Given the description of an element on the screen output the (x, y) to click on. 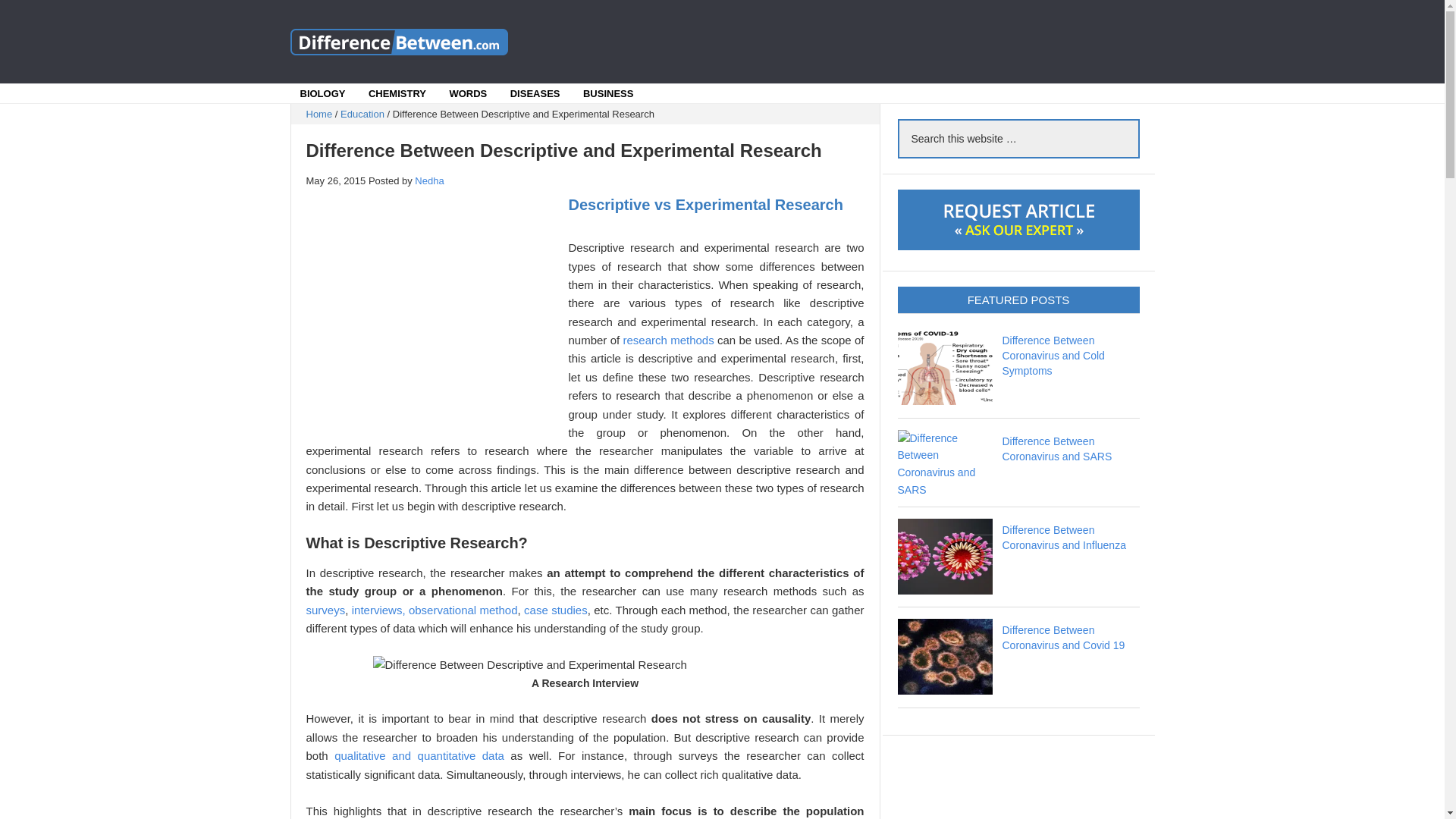
CHEMISTRY (397, 93)
Nedha (429, 180)
Advertisement (850, 41)
Compare the Difference Between Similar Terms (402, 41)
DISEASES (534, 93)
Difference Between Questionnaire and Survey (325, 609)
Difference Between Research Methods and Research Design (668, 339)
WORDS (467, 93)
